Given the description of an element on the screen output the (x, y) to click on. 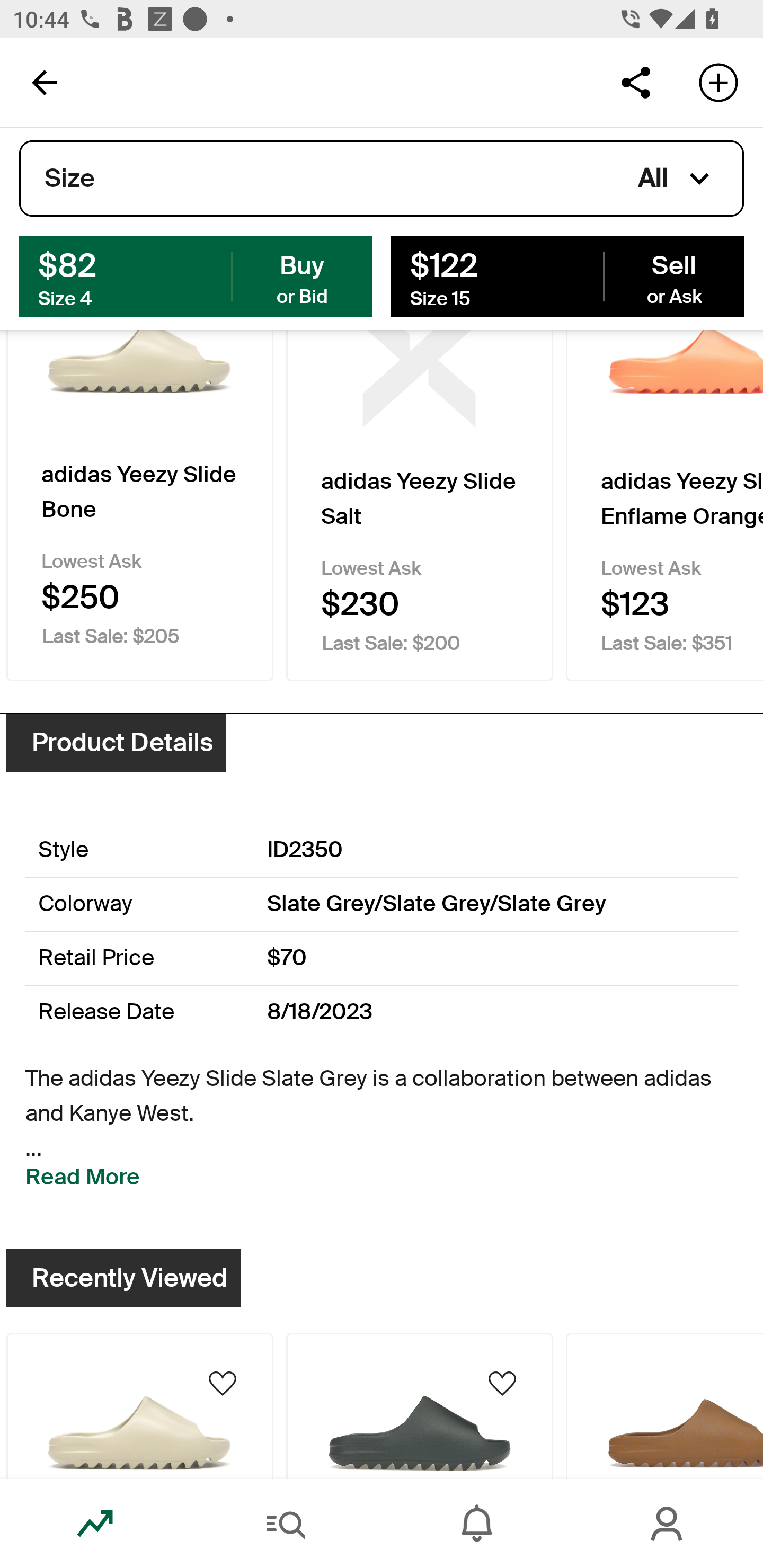
Share (635, 81)
Add (718, 81)
Size All (381, 178)
$82 Buy Size 4 or Bid (195, 275)
$122 Sell Size 15 or Ask (566, 275)
Read More (82, 1177)
Product Image (139, 1405)
Product Image (419, 1405)
Product Image (664, 1405)
Search (285, 1523)
Inbox (476, 1523)
Account (667, 1523)
